Given the description of an element on the screen output the (x, y) to click on. 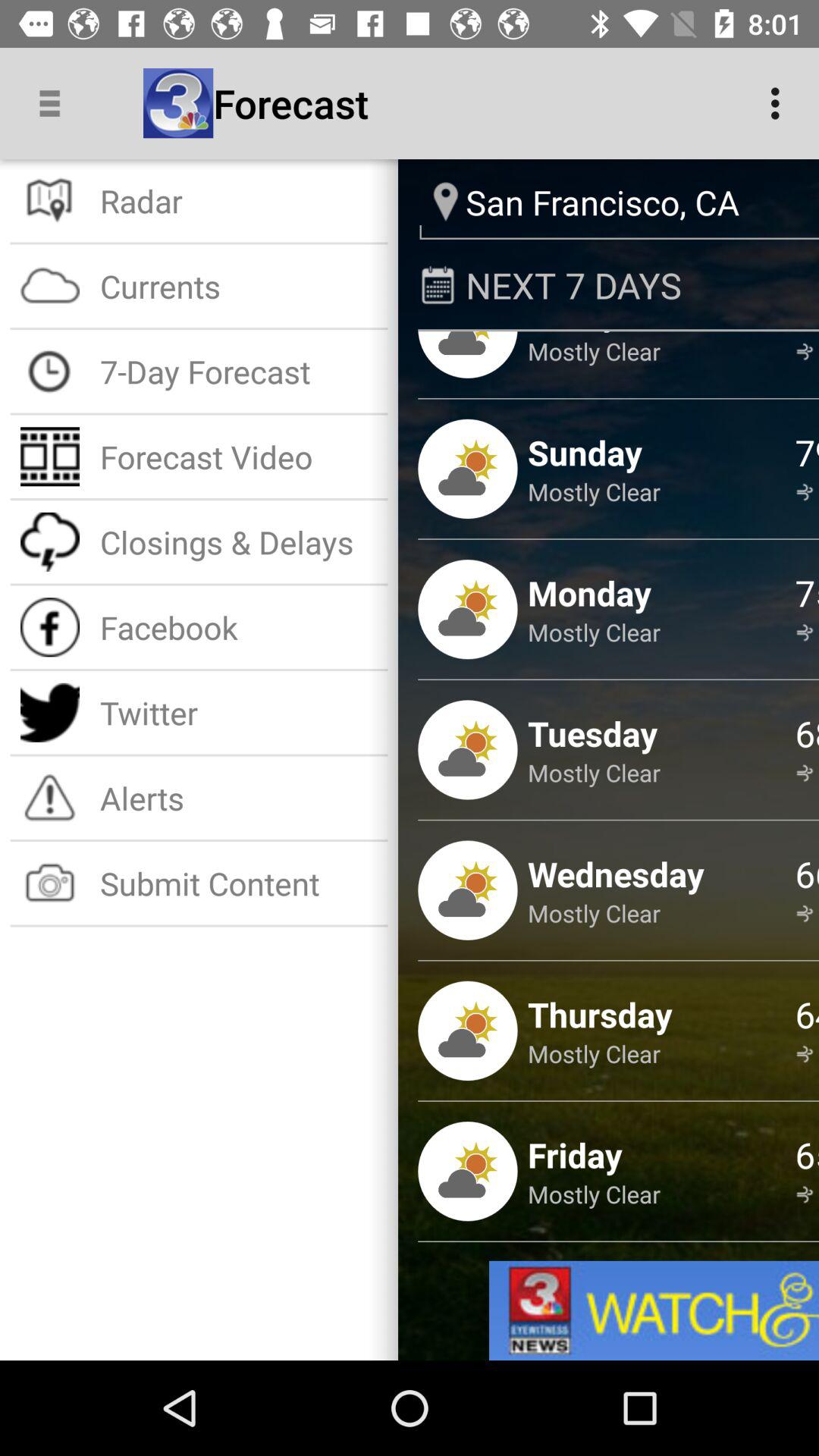
watch live news (654, 1310)
